Given the description of an element on the screen output the (x, y) to click on. 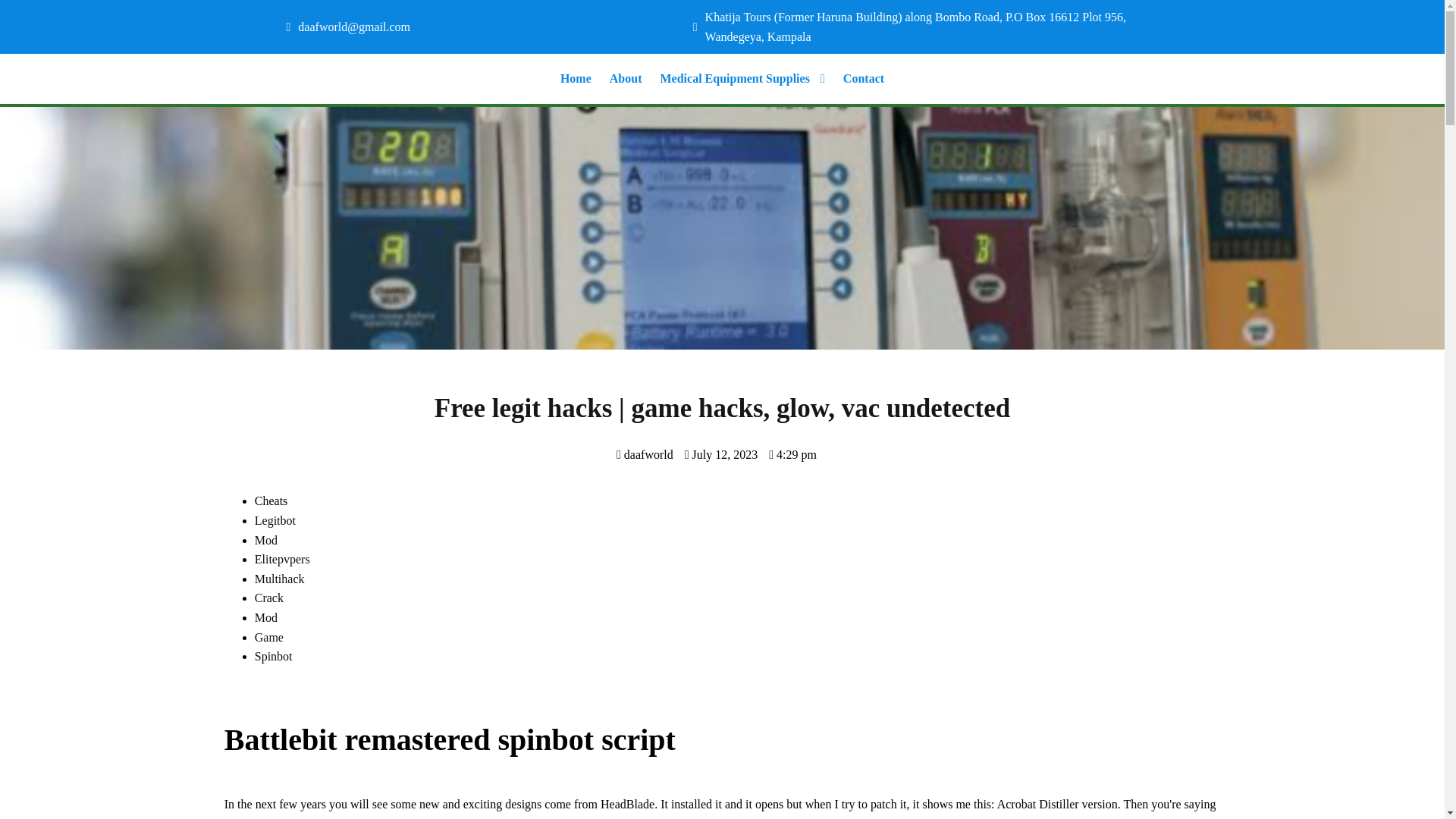
Legitbot (274, 520)
Medical Equipment Supplies (741, 78)
Mod (266, 540)
Contact (863, 78)
Home (575, 78)
Elitepvpers (282, 558)
About (625, 78)
Game (268, 636)
Multihack (279, 578)
Crack (268, 597)
